Given the description of an element on the screen output the (x, y) to click on. 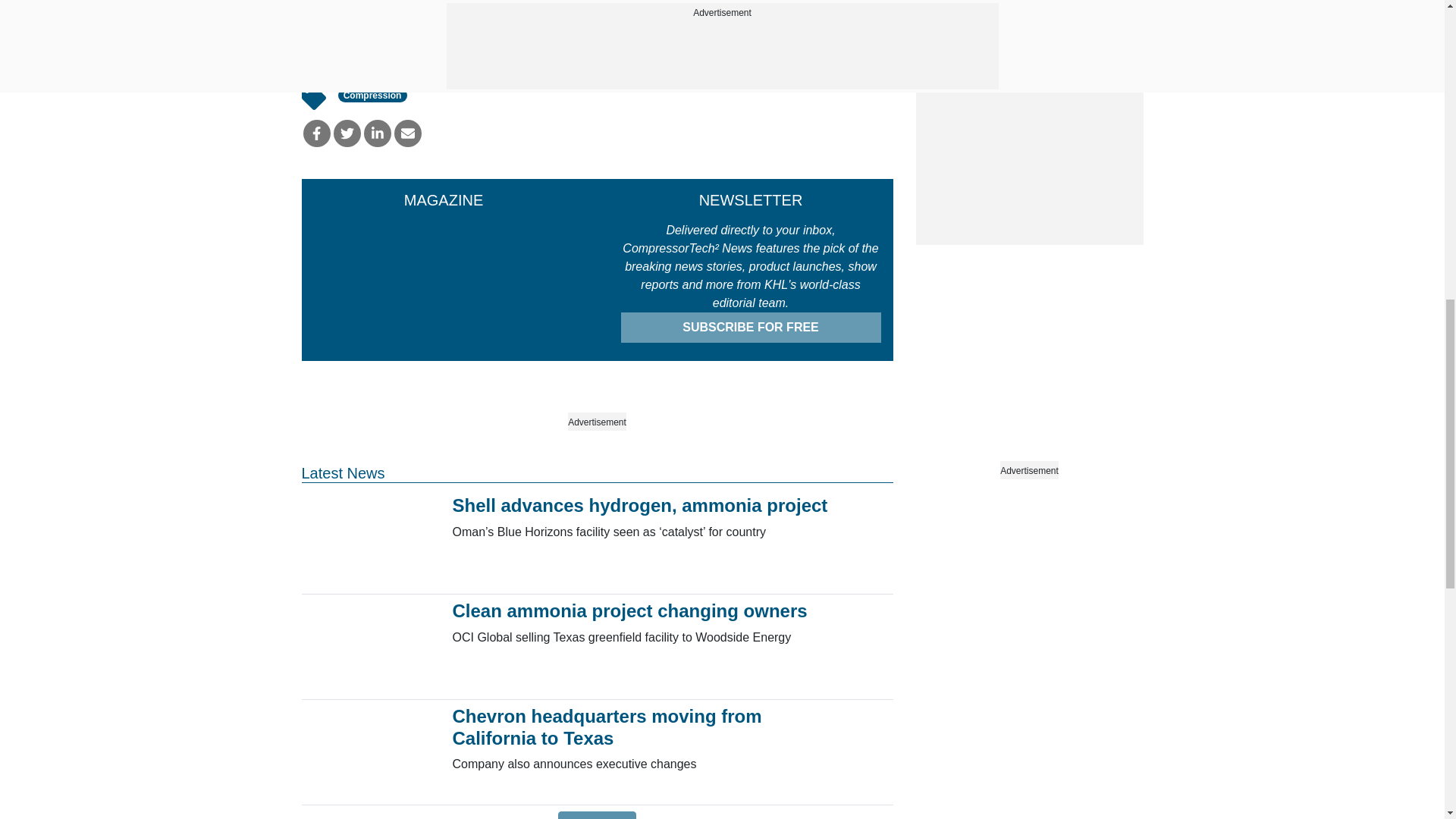
Share this page on Facebook (316, 133)
Share this page via email (408, 133)
Share this page on Linkedin (377, 133)
Share this page on Twitter (347, 133)
3rd party ad content (1028, 149)
3rd party ad content (1028, 12)
